Given the description of an element on the screen output the (x, y) to click on. 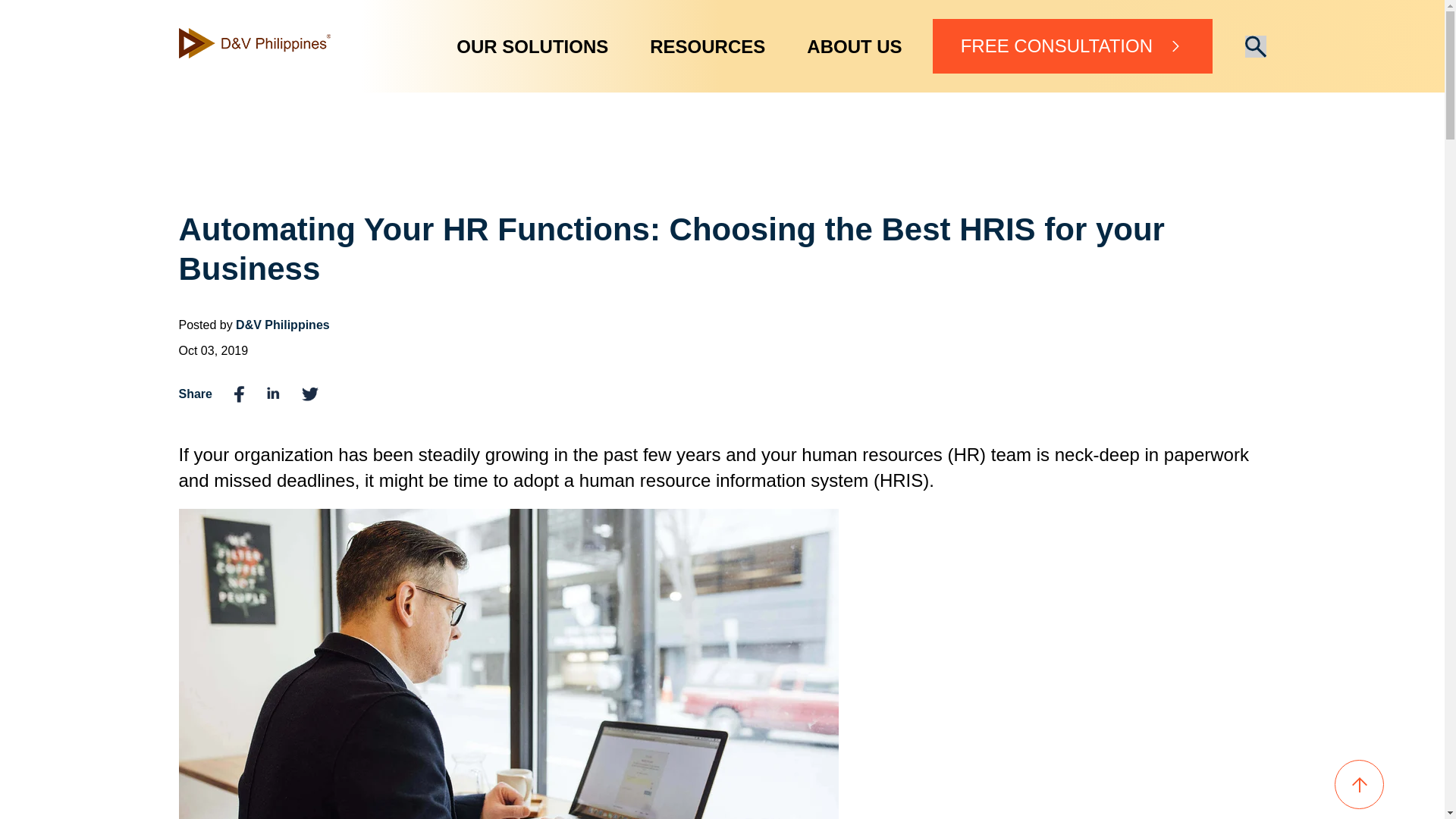
OUR SOLUTIONS (532, 46)
Go to top (1359, 785)
ABOUT US (853, 46)
Submit (1255, 45)
FREE CONSULTATION (1072, 45)
RESOURCES (707, 46)
